Given the description of an element on the screen output the (x, y) to click on. 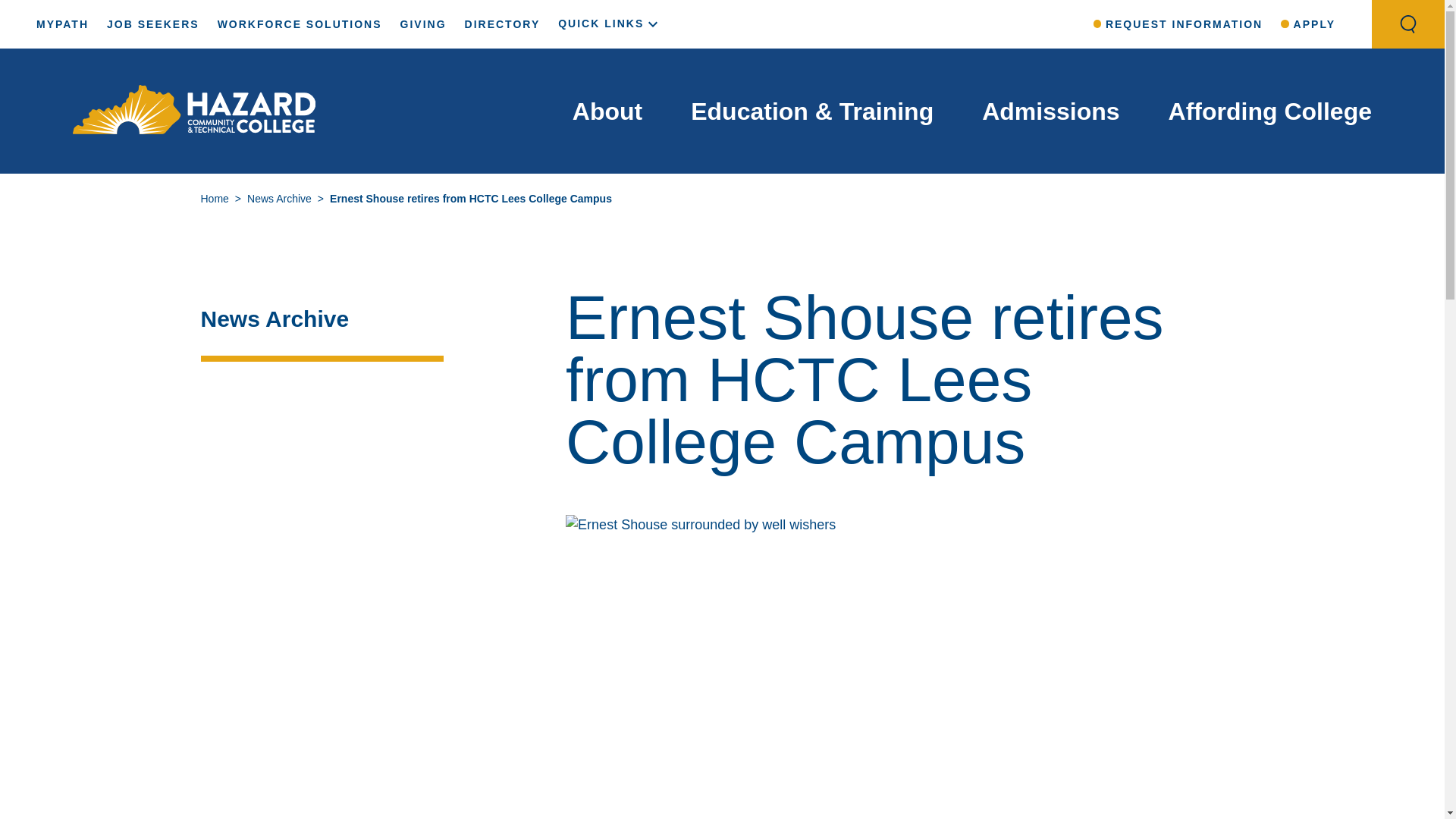
GIVING (423, 23)
JOB SEEKERS (152, 23)
DIRECTORY (502, 23)
REQUEST INFORMATION (1178, 24)
QUICK LINKS (609, 22)
MYPATH (62, 23)
APPLY (1308, 24)
WORKFORCE SOLUTIONS (298, 23)
